Given the description of an element on the screen output the (x, y) to click on. 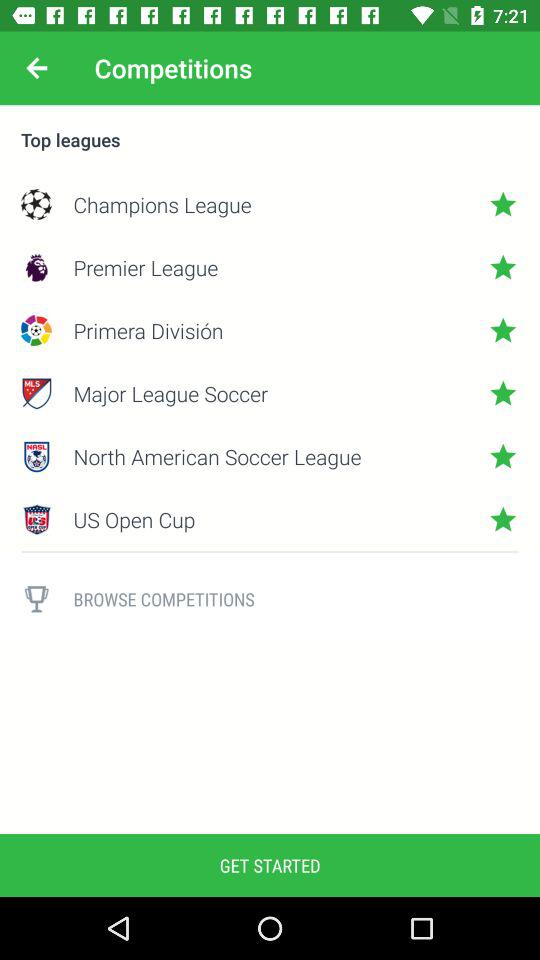
turn off browse competitions icon (296, 598)
